Given the description of an element on the screen output the (x, y) to click on. 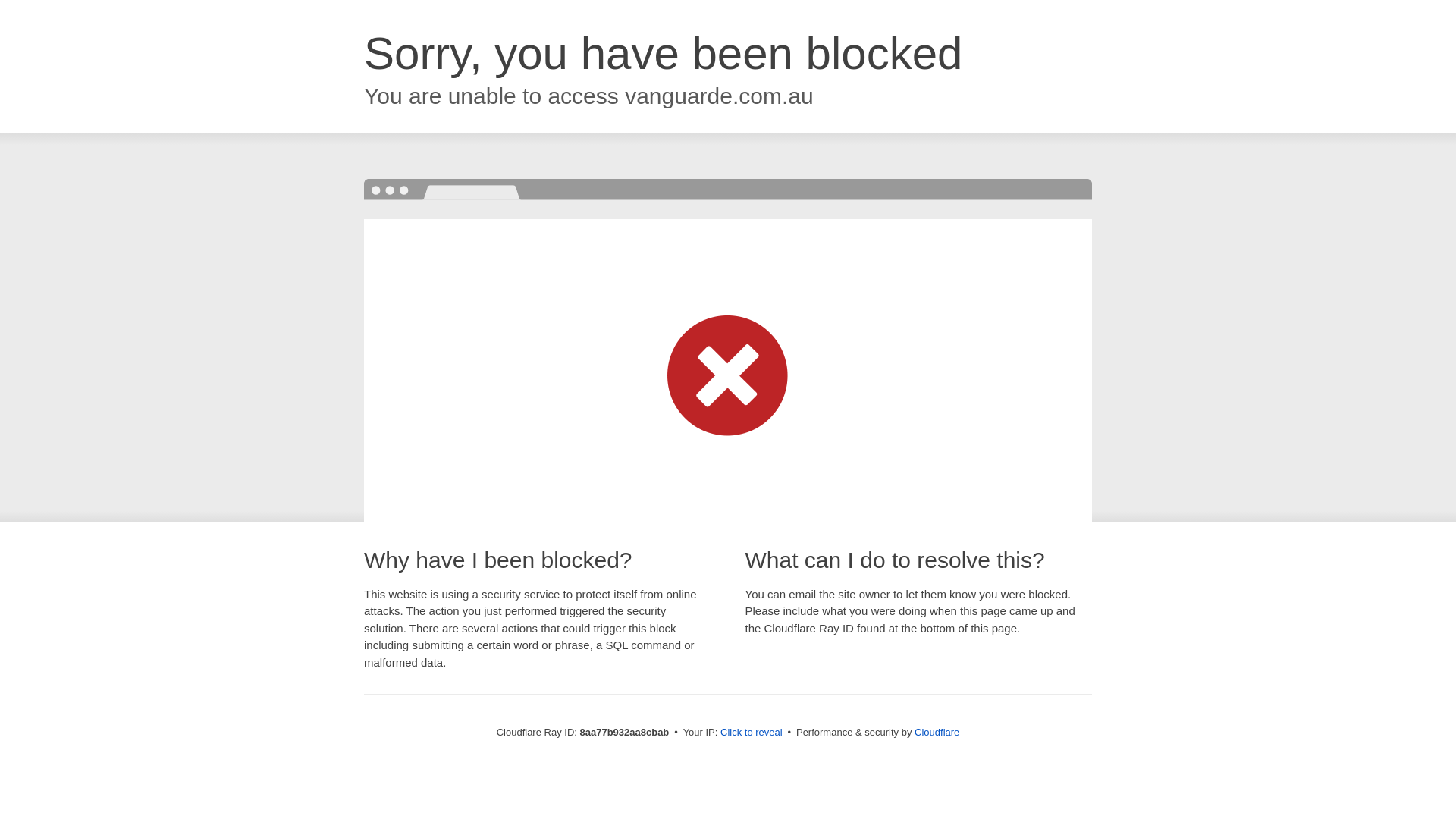
Click to reveal (751, 732)
Cloudflare (936, 731)
